Given the description of an element on the screen output the (x, y) to click on. 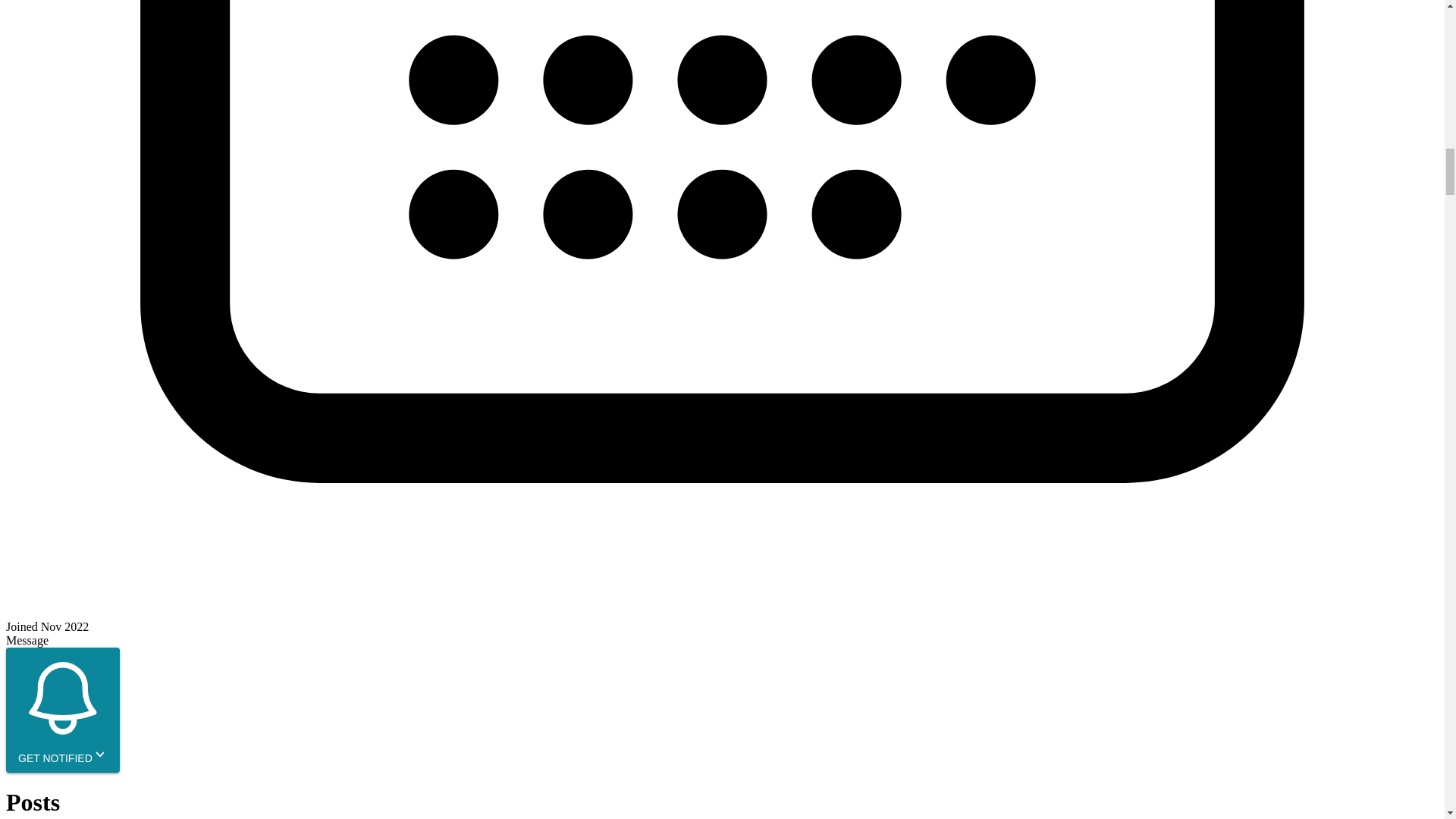
GET NOTIFIED (62, 710)
Message (26, 640)
